Given the description of an element on the screen output the (x, y) to click on. 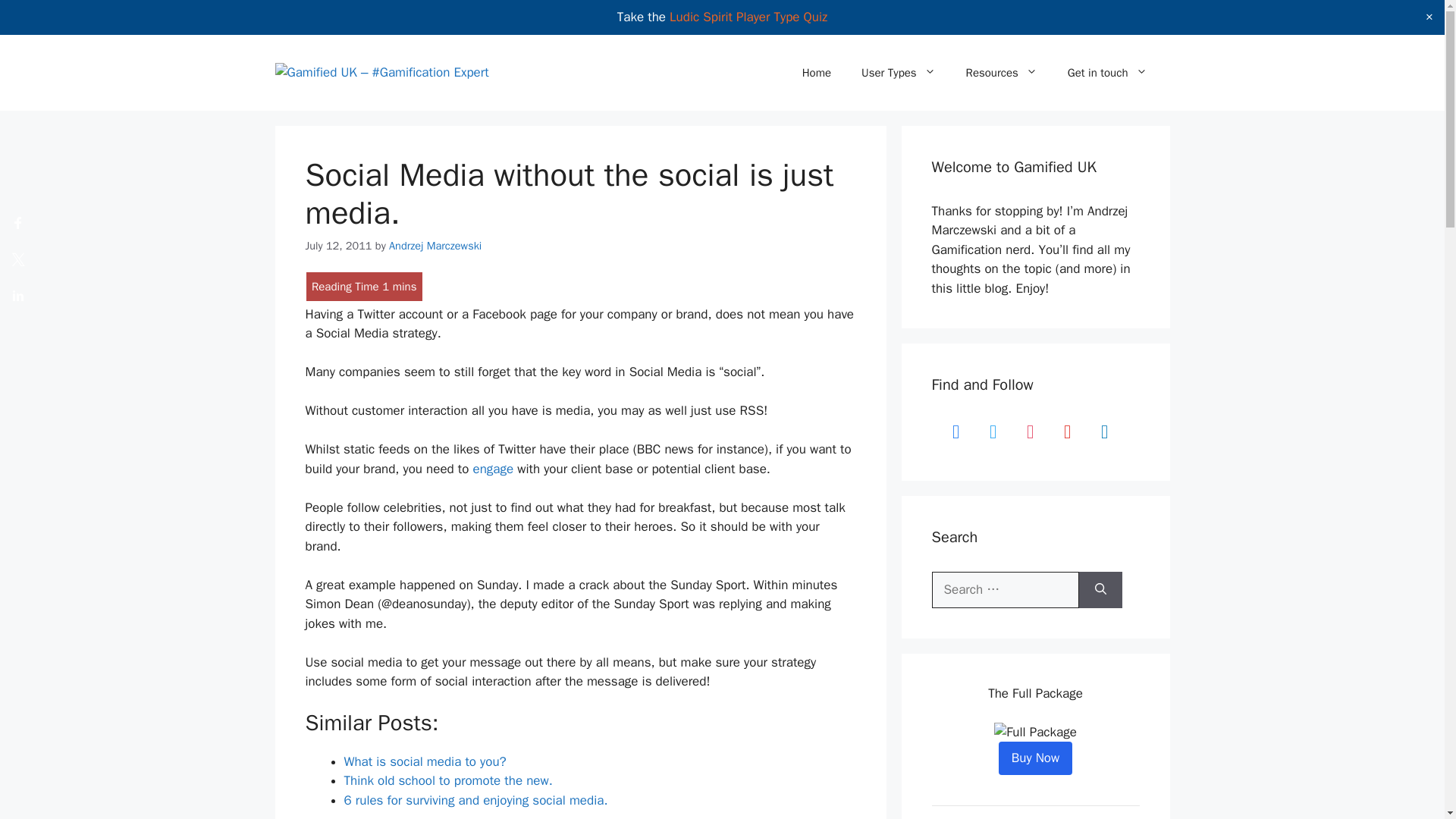
What is social media to you? (424, 761)
Everything from handy links to stuff I have made. (1001, 72)
Resources (1001, 72)
6 rules for surviving and enjoying social media. (475, 800)
facebook (955, 430)
Ludic Spirit Player Type Quiz (748, 17)
engage (493, 468)
Instagram (1029, 430)
What is social media to you? (424, 761)
Think old school to promote the new. (448, 780)
Facebook (955, 430)
Andrzej Marczewski (434, 244)
Get in touch (1106, 72)
View all posts by Andrzej Marczewski (434, 244)
6 rules for surviving and enjoying social media. (475, 800)
